Given the description of an element on the screen output the (x, y) to click on. 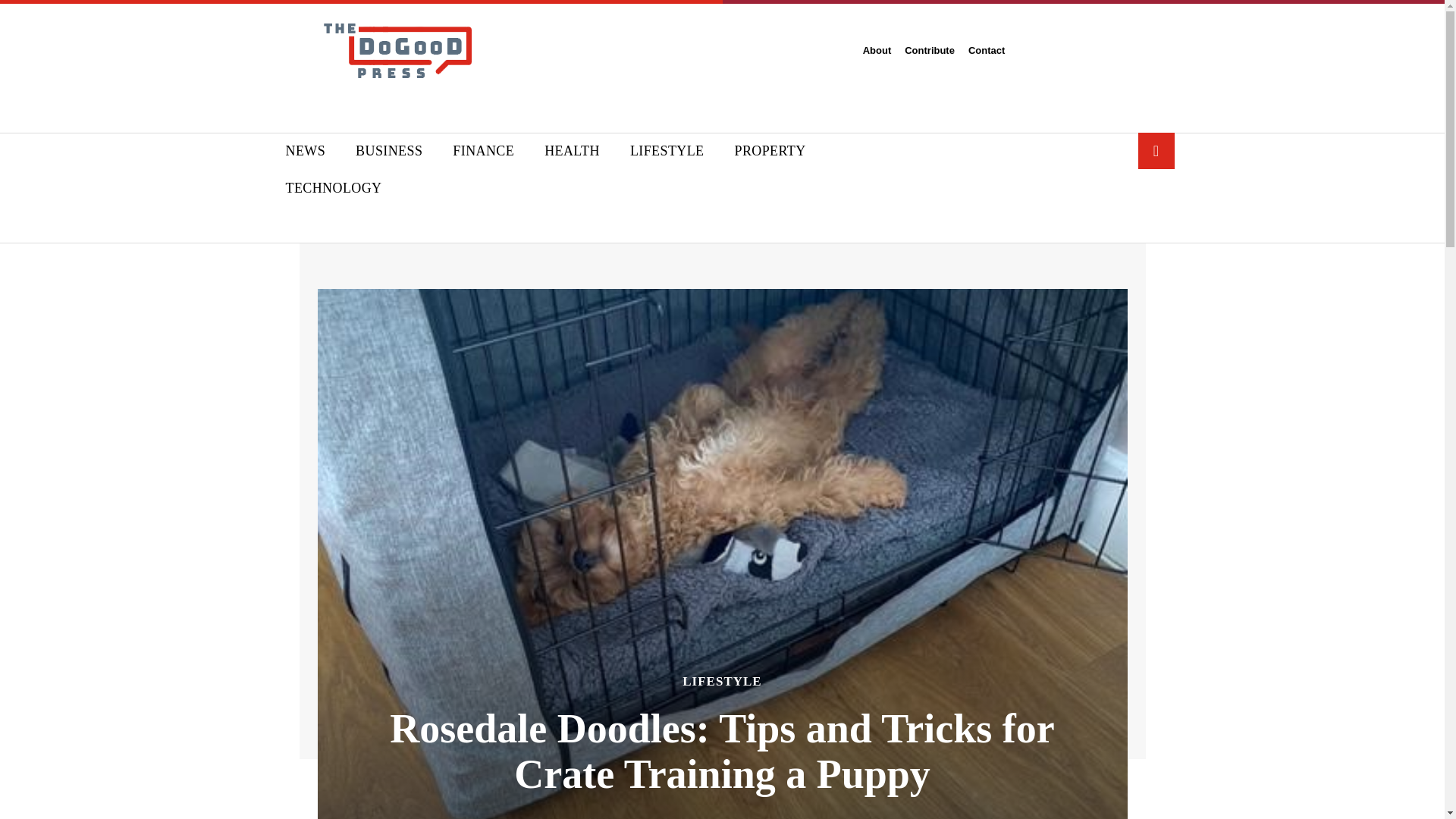
BUSINESS (389, 150)
NEWS (304, 150)
Contact (985, 50)
Contribute (929, 50)
About (877, 50)
